Given the description of an element on the screen output the (x, y) to click on. 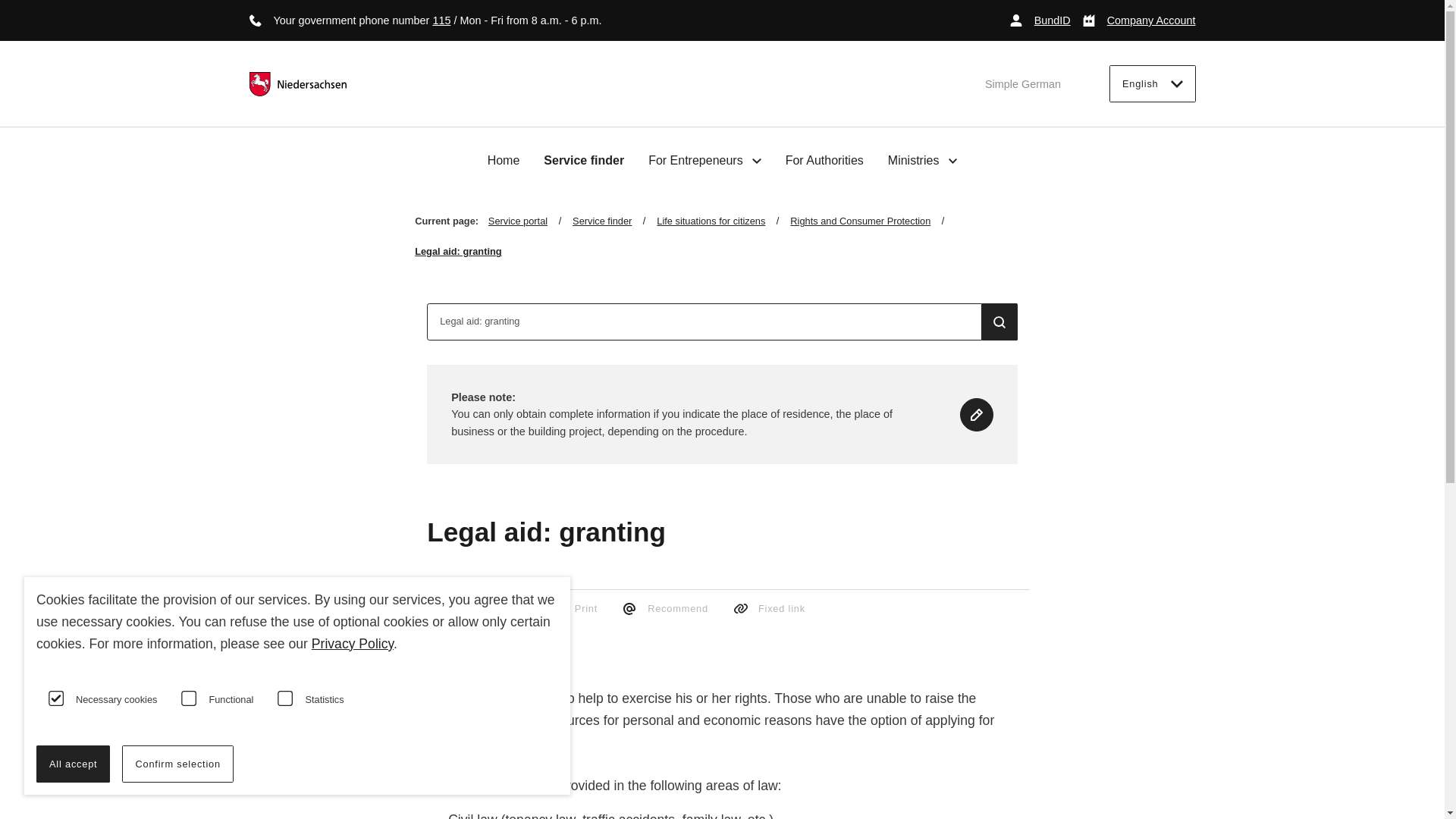
BundID (1040, 20)
Home (503, 160)
Ministries (923, 160)
115 (440, 20)
Rights and Consumer Protection (872, 221)
Service finder (614, 221)
English (1152, 83)
For Entrepeneurs (704, 160)
Home (503, 160)
Service portal (529, 221)
For Authorities (824, 160)
Service finder (583, 160)
Life situations for citizens (723, 221)
Company Account (1139, 20)
BundID (1040, 20)
